Given the description of an element on the screen output the (x, y) to click on. 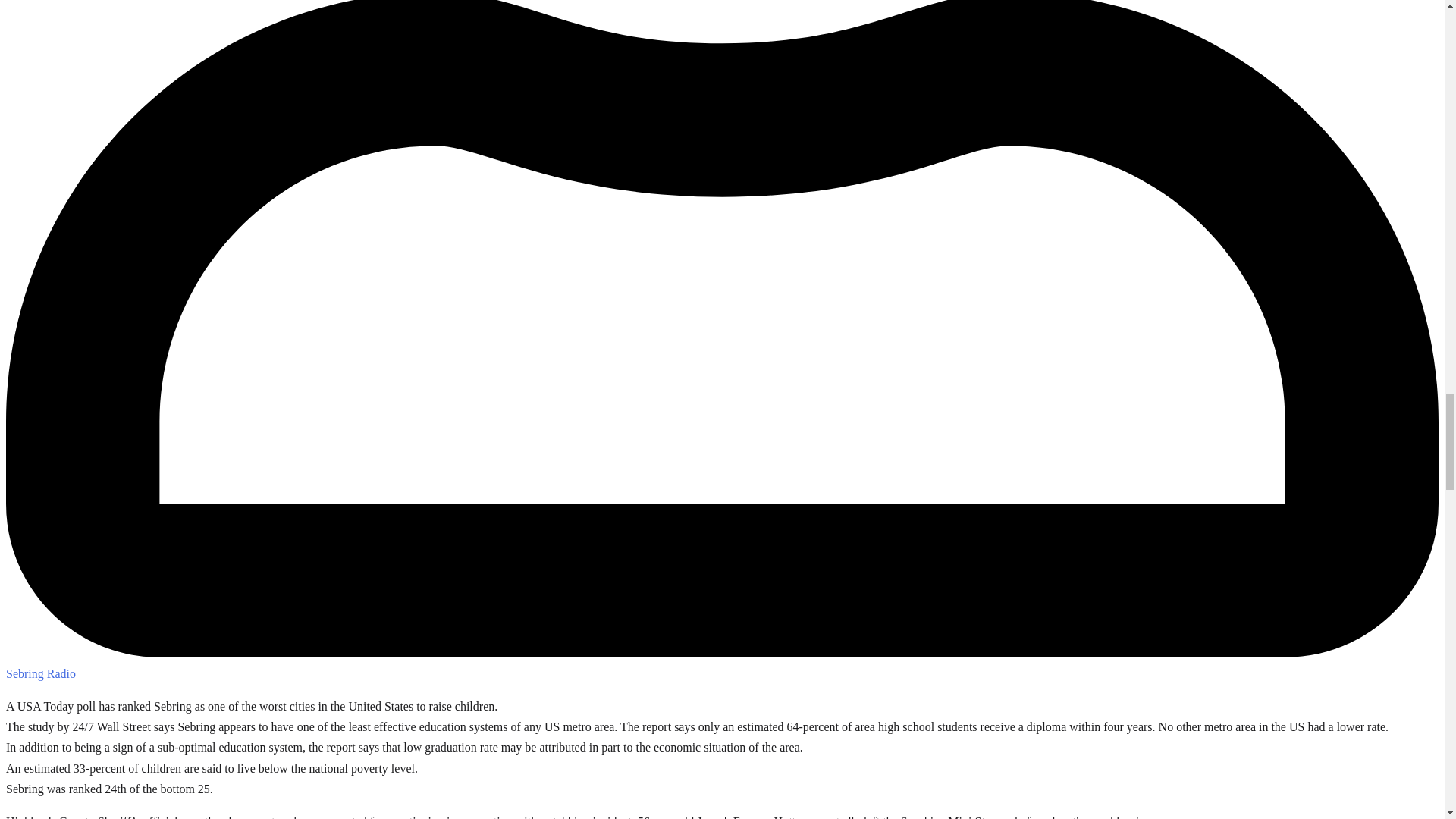
Sebring Radio (40, 673)
